Given the description of an element on the screen output the (x, y) to click on. 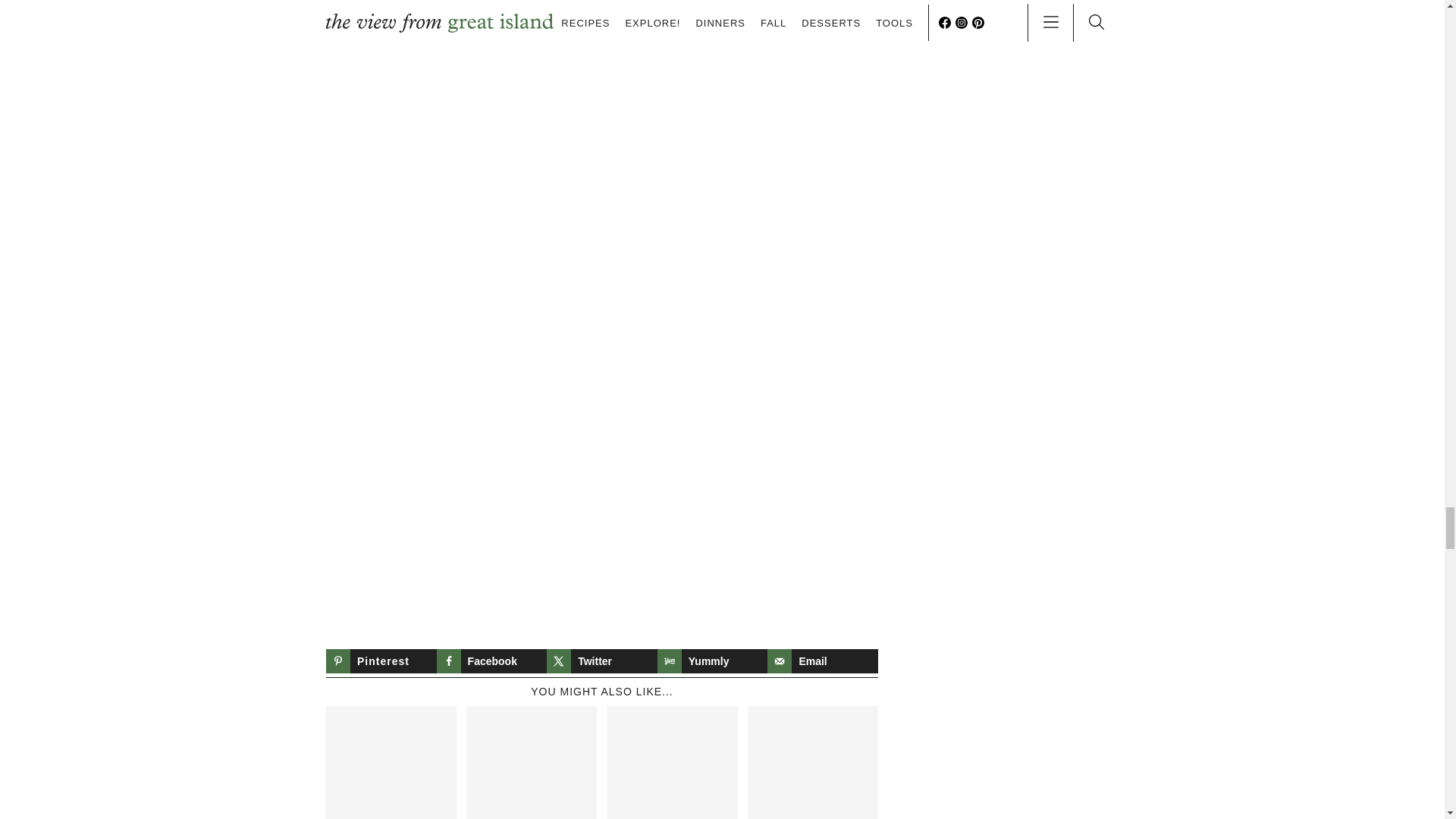
Send over email (822, 661)
Share on X (602, 661)
Save to Pinterest (381, 661)
Share on Facebook (491, 661)
Share on Yummly (713, 661)
